Given the description of an element on the screen output the (x, y) to click on. 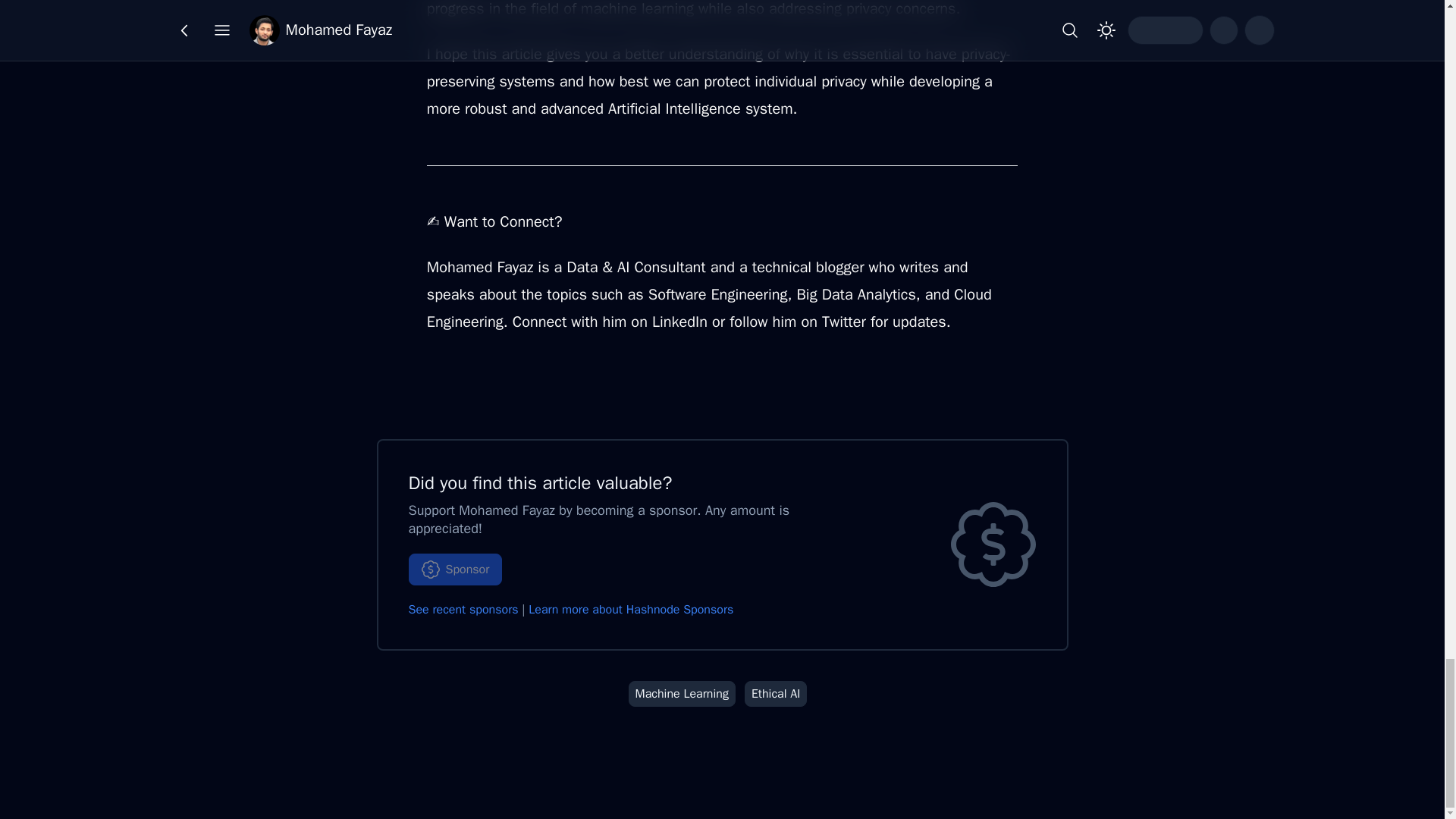
Machine Learning (681, 693)
Learn more about Hashnode Sponsors (630, 609)
Ethical AI (776, 693)
Sponsor (454, 569)
See recent sponsors (462, 609)
